Given the description of an element on the screen output the (x, y) to click on. 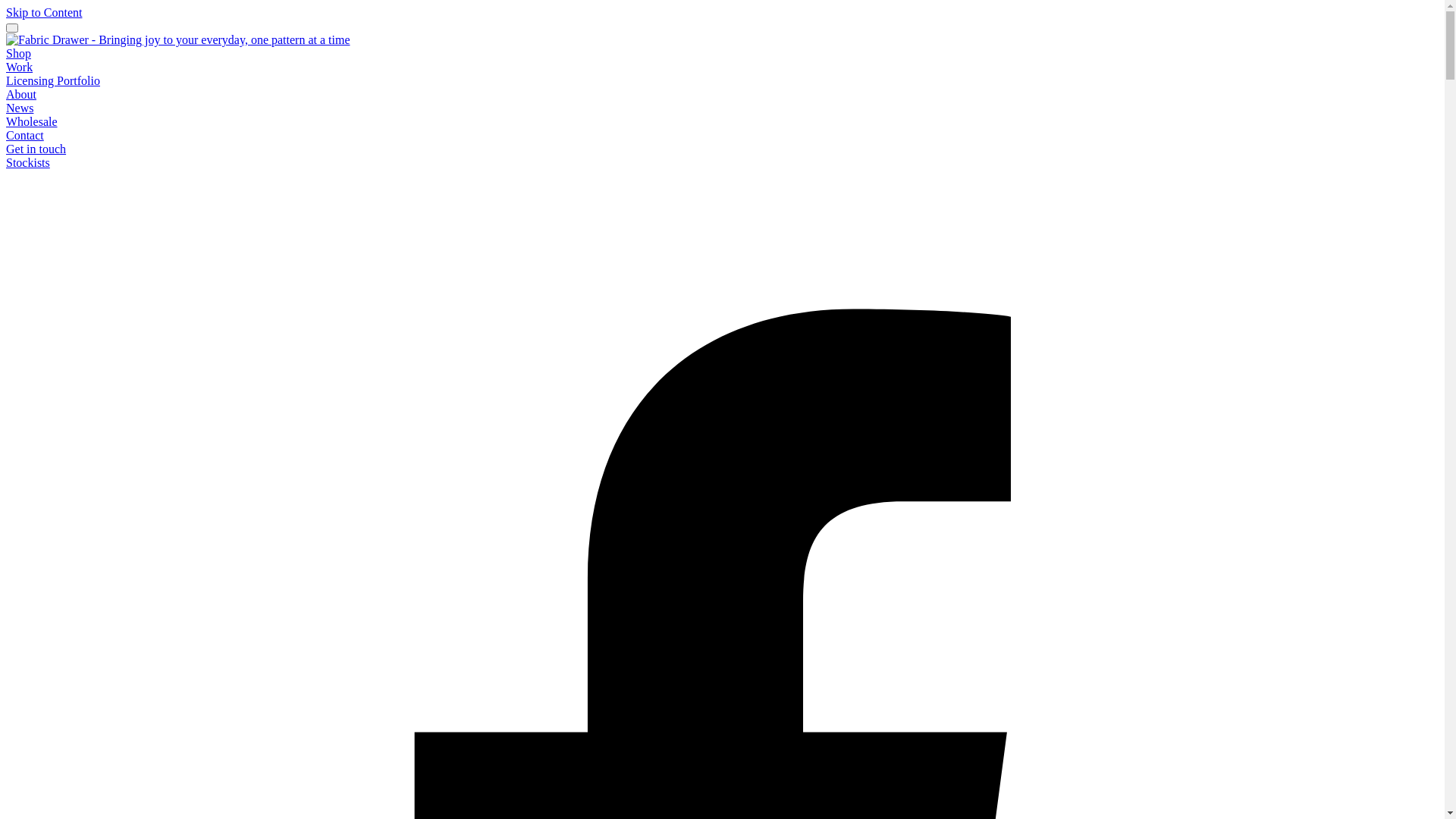
Shop Element type: text (18, 53)
Skip to Content Element type: text (43, 12)
News Element type: text (19, 107)
Wholesale Element type: text (31, 121)
About Element type: text (21, 93)
Get in touch Element type: text (35, 148)
Licensing Portfolio Element type: text (53, 80)
Contact Element type: text (24, 134)
Stockists Element type: text (28, 162)
Work Element type: text (19, 66)
